Given the description of an element on the screen output the (x, y) to click on. 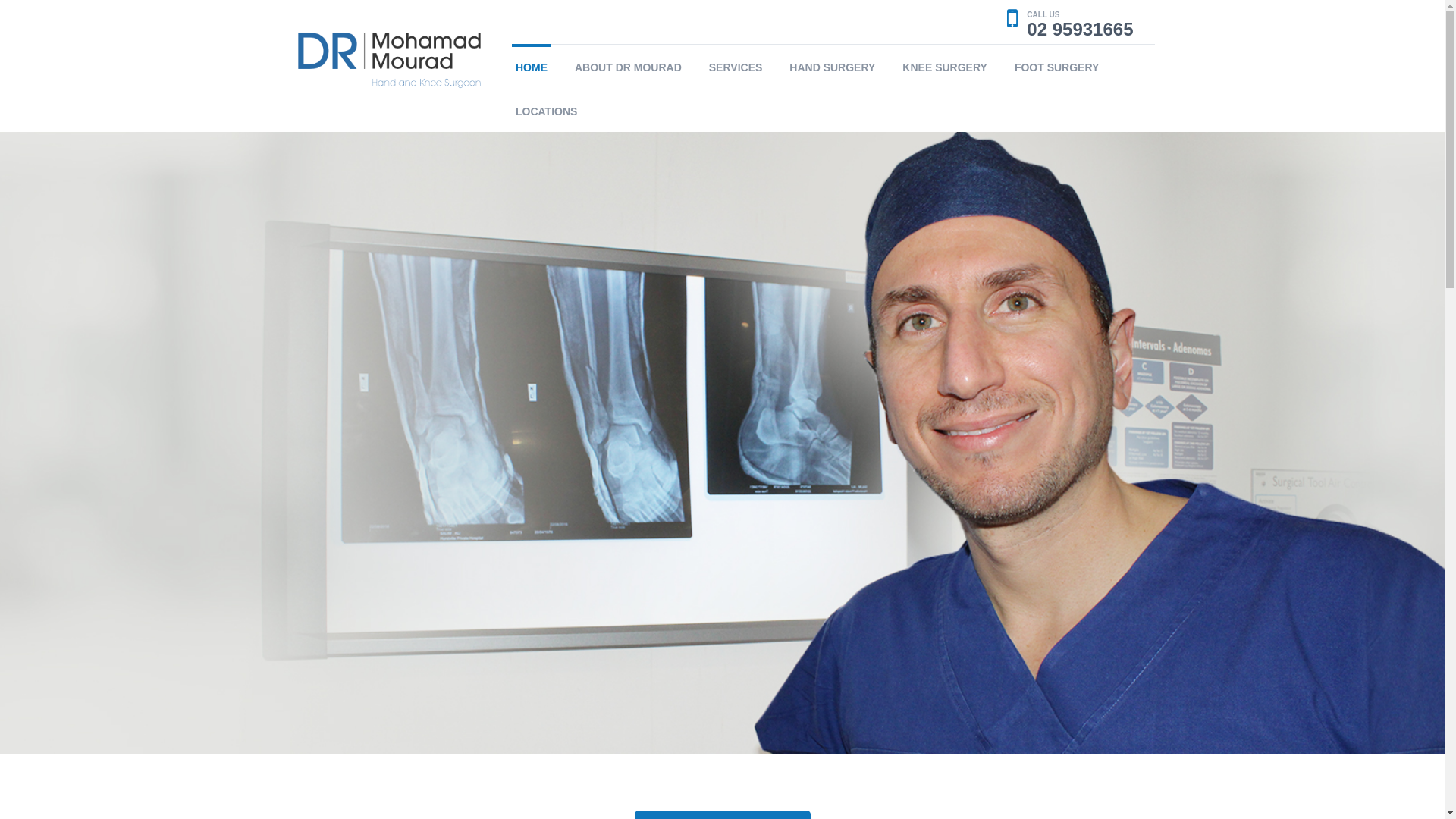
ABOUT DR MOURAD Element type: text (628, 65)
HAND SURGERY Element type: text (831, 65)
CALL US
02 95931665 Element type: text (1069, 21)
SERVICES Element type: text (735, 65)
HOME Element type: text (531, 65)
FOOT SURGERY Element type: text (1056, 65)
KNEE SURGERY Element type: text (944, 65)
Hand and Knee Surgeon Element type: hover (389, 59)
LOCATIONS Element type: text (545, 109)
